Given the description of an element on the screen output the (x, y) to click on. 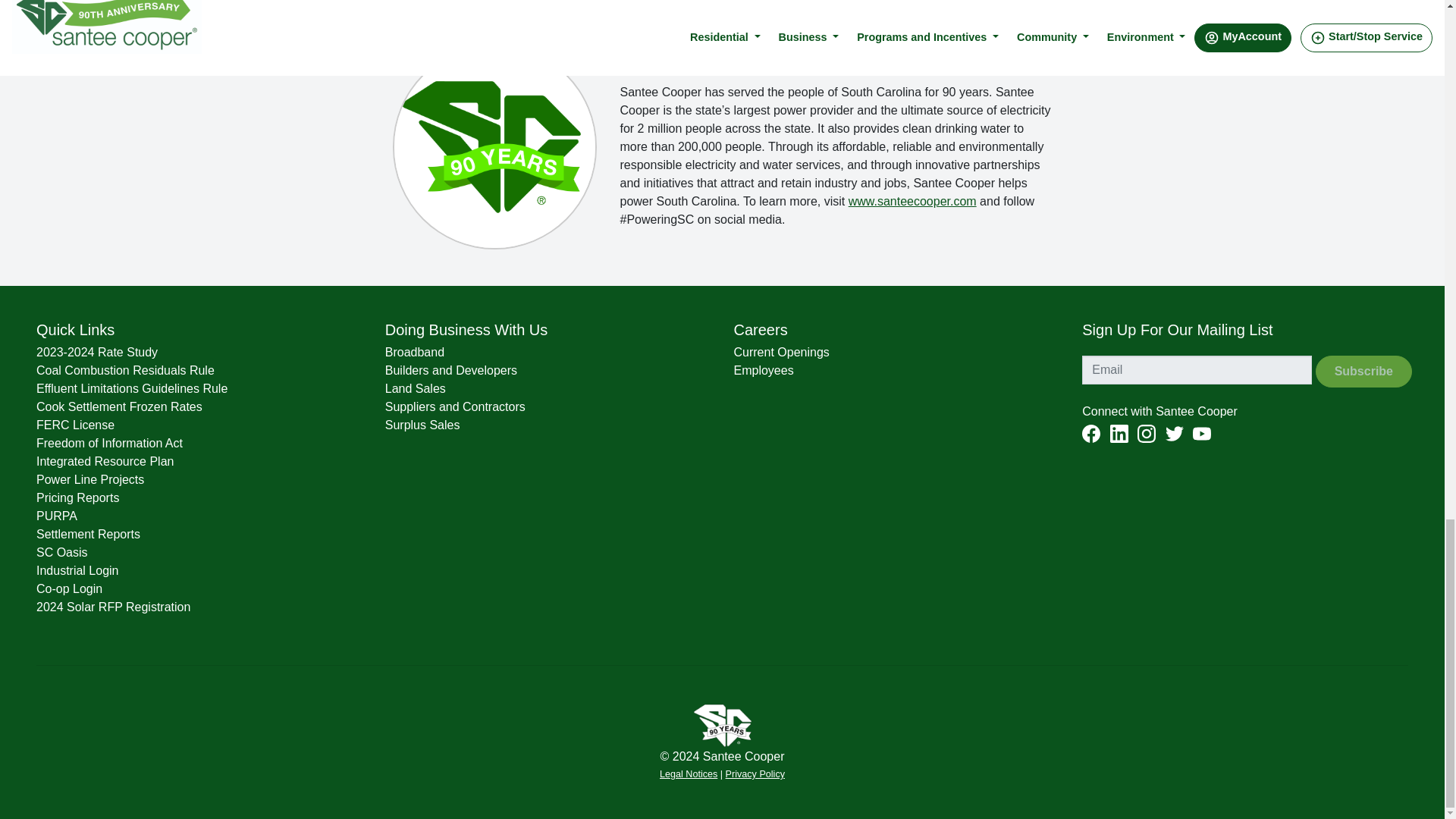
LinkedIn (1118, 434)
Facebook (1090, 434)
Instagram (1146, 434)
Subscribe (1364, 371)
YouTube (1201, 434)
Twitter (1174, 434)
